Given the description of an element on the screen output the (x, y) to click on. 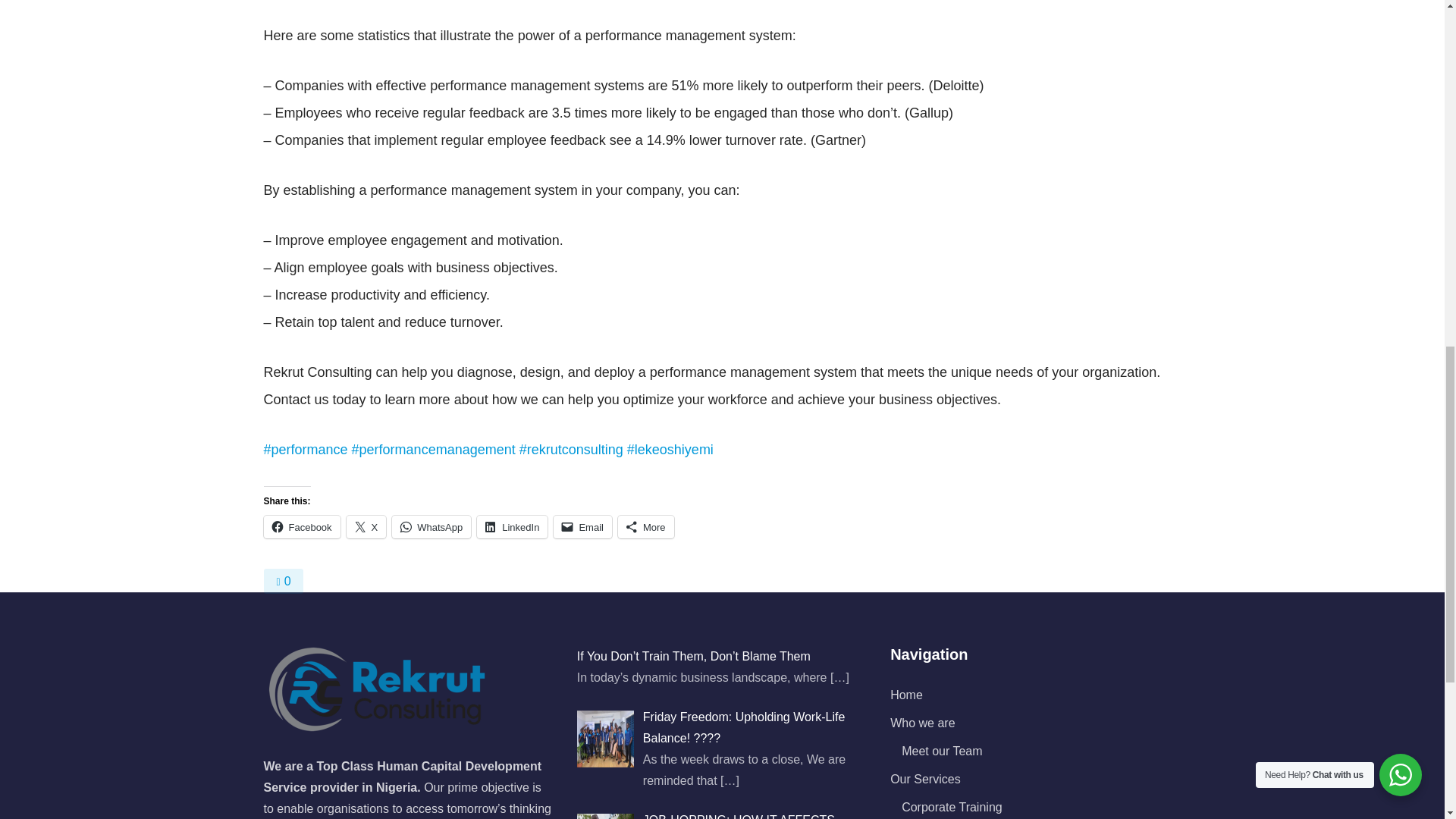
LinkedIn (512, 526)
Friday Freedom: Upholding Work-Life Balance! ???? (743, 727)
Click to share on LinkedIn (512, 526)
Email (582, 526)
Click to share on Facebook (301, 526)
JOB-HOPPING: HOW IT AFFECTS YOUR CAREER SUCCESS (738, 816)
Click to share on WhatsApp (430, 526)
0 (282, 580)
Click to email a link to a friend (582, 526)
Facebook (301, 526)
